Given the description of an element on the screen output the (x, y) to click on. 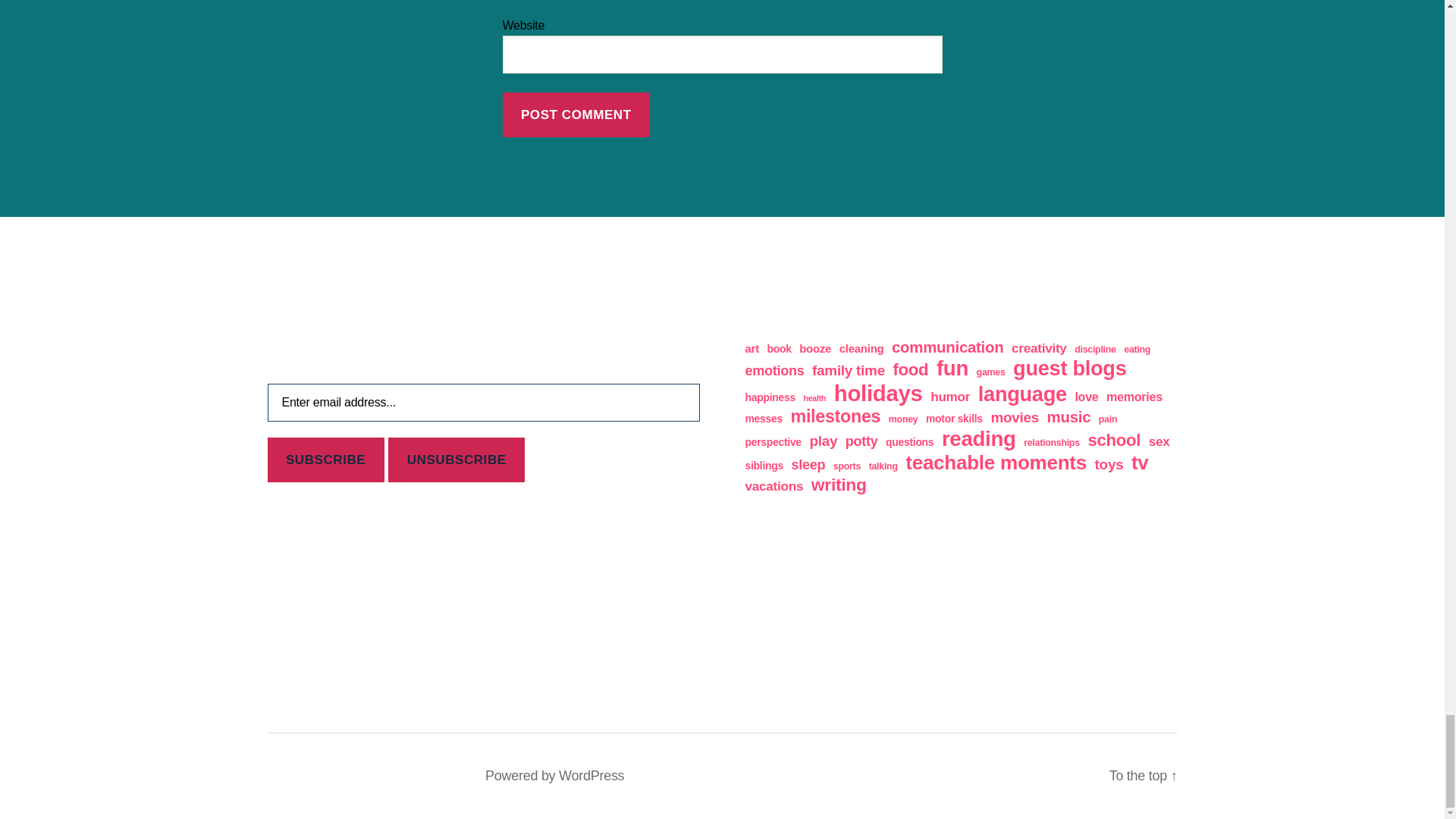
Subscribe (325, 459)
Unsubscribe (456, 459)
Enter email address... (482, 402)
Post Comment (575, 114)
